Given the description of an element on the screen output the (x, y) to click on. 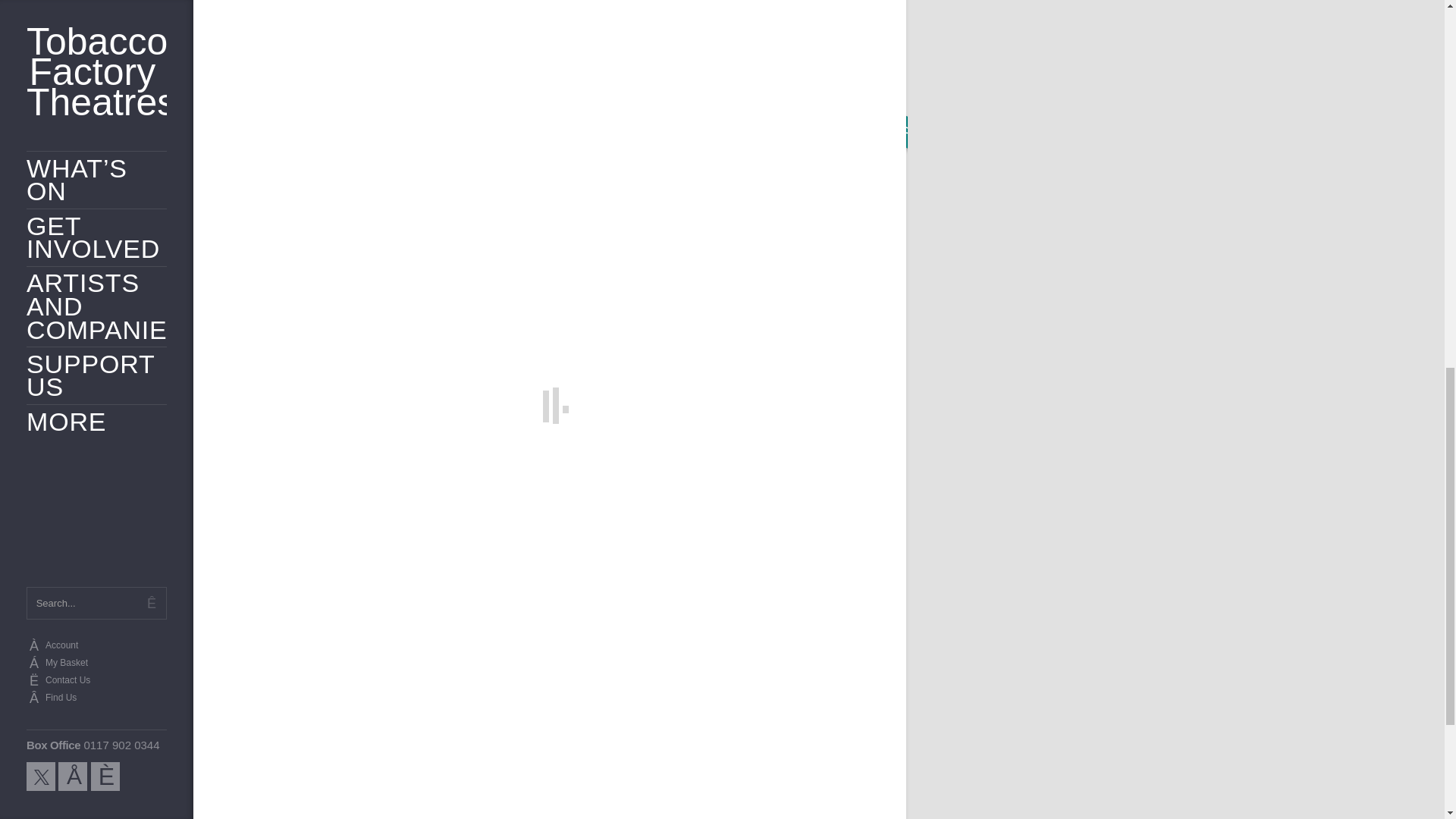
ARCHIVE: Jonny and the Baptists: The End is Nigh (321, 714)
ARCHIVE: 1972: The Future of Sex (550, 714)
To find out more about BEYOND click here. (743, 63)
thegreenbankbristol.co.uk (757, 497)
ARCHIVE: Trainspotting (777, 714)
